Given the description of an element on the screen output the (x, y) to click on. 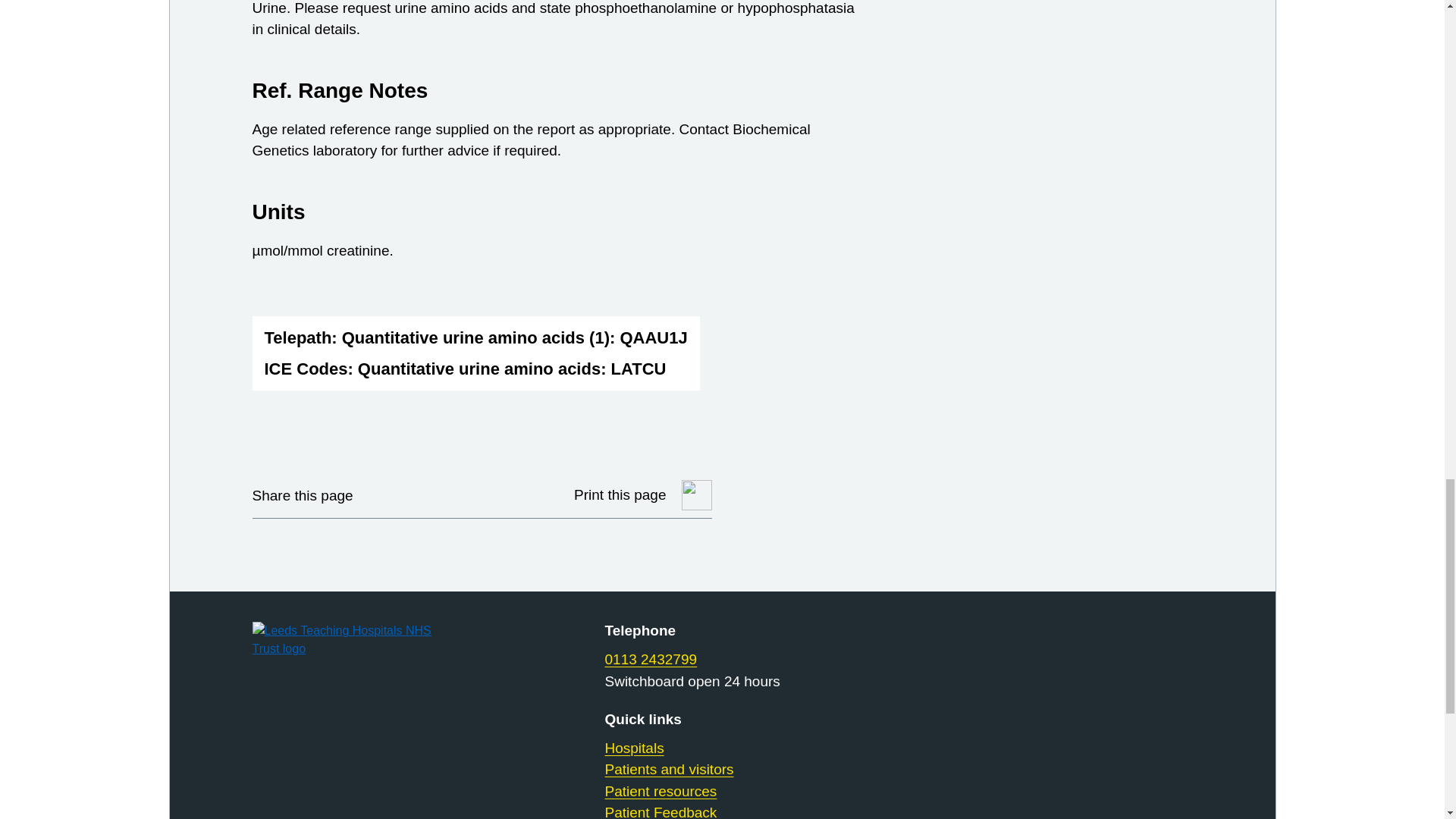
Share via Email (460, 494)
Share on Facebook (422, 494)
Leeds Teaching Hospitals NHS Trust Homepage (359, 639)
